Given the description of an element on the screen output the (x, y) to click on. 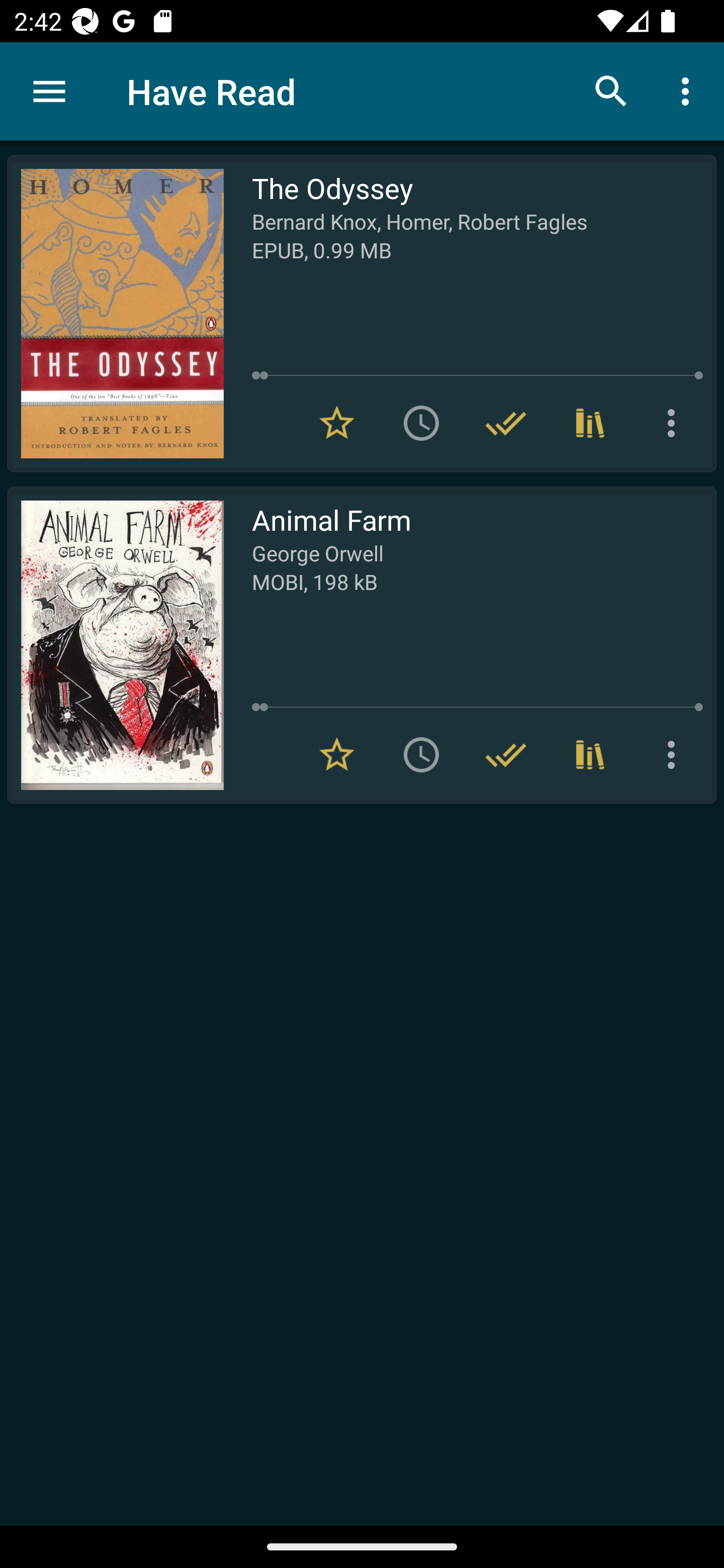
Menu (49, 91)
Search books & documents (611, 90)
More options (688, 90)
Read The Odyssey (115, 313)
Remove from Favorites (336, 423)
Add to To read (421, 423)
Remove from Have read (505, 423)
Collections (3) (590, 423)
More options (674, 423)
Read Animal Farm (115, 645)
Remove from Favorites (336, 753)
Add to To read (421, 753)
Remove from Have read (505, 753)
Collections (2) (590, 753)
More options (674, 753)
